Given the description of an element on the screen output the (x, y) to click on. 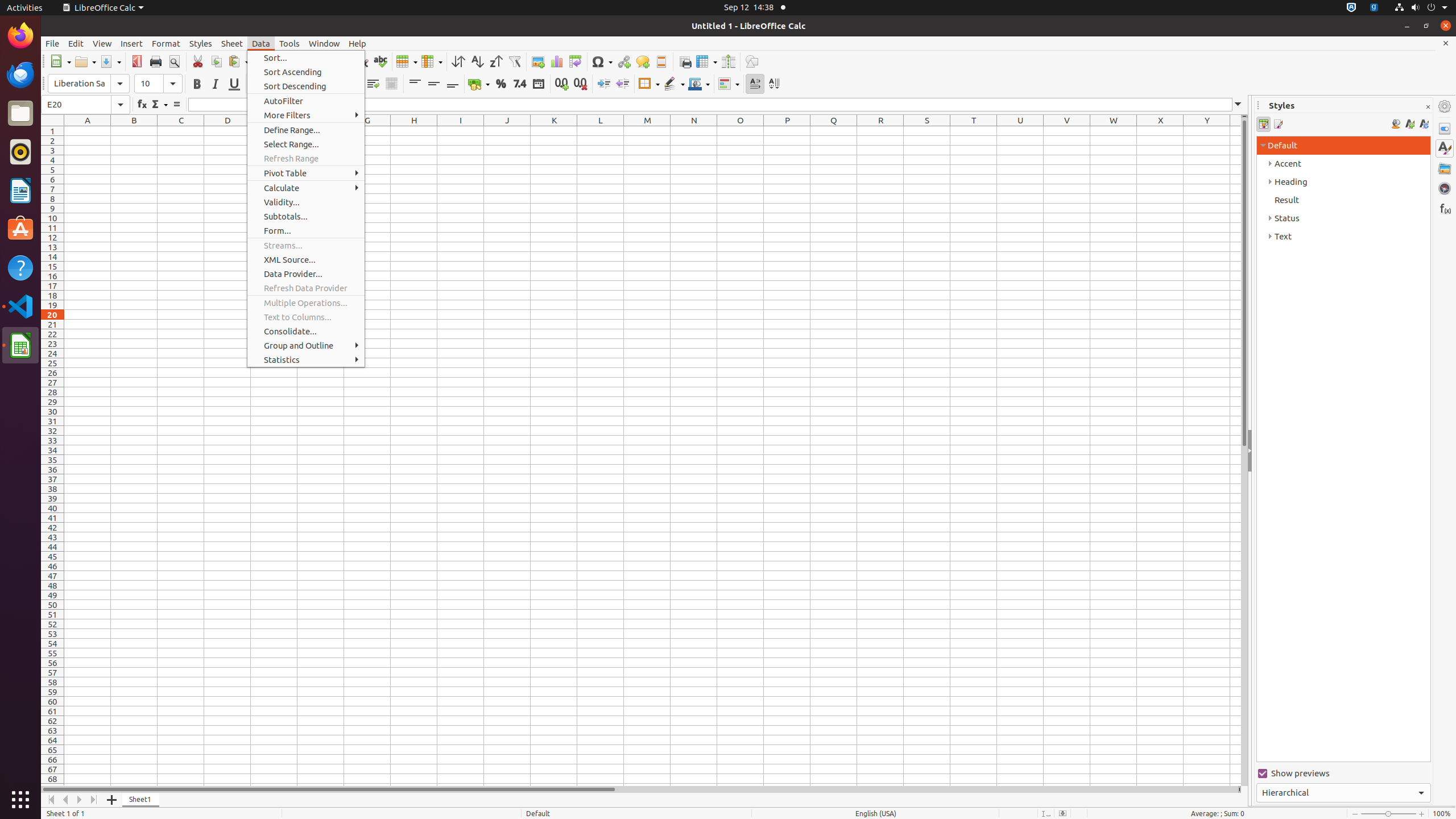
Q1 Element type: table-cell (833, 130)
V1 Element type: table-cell (1066, 130)
Sort Descending Element type: push-button (495, 61)
LibreOffice Writer Element type: push-button (20, 190)
Font Name Element type: combo-box (88, 83)
